Given the description of an element on the screen output the (x, y) to click on. 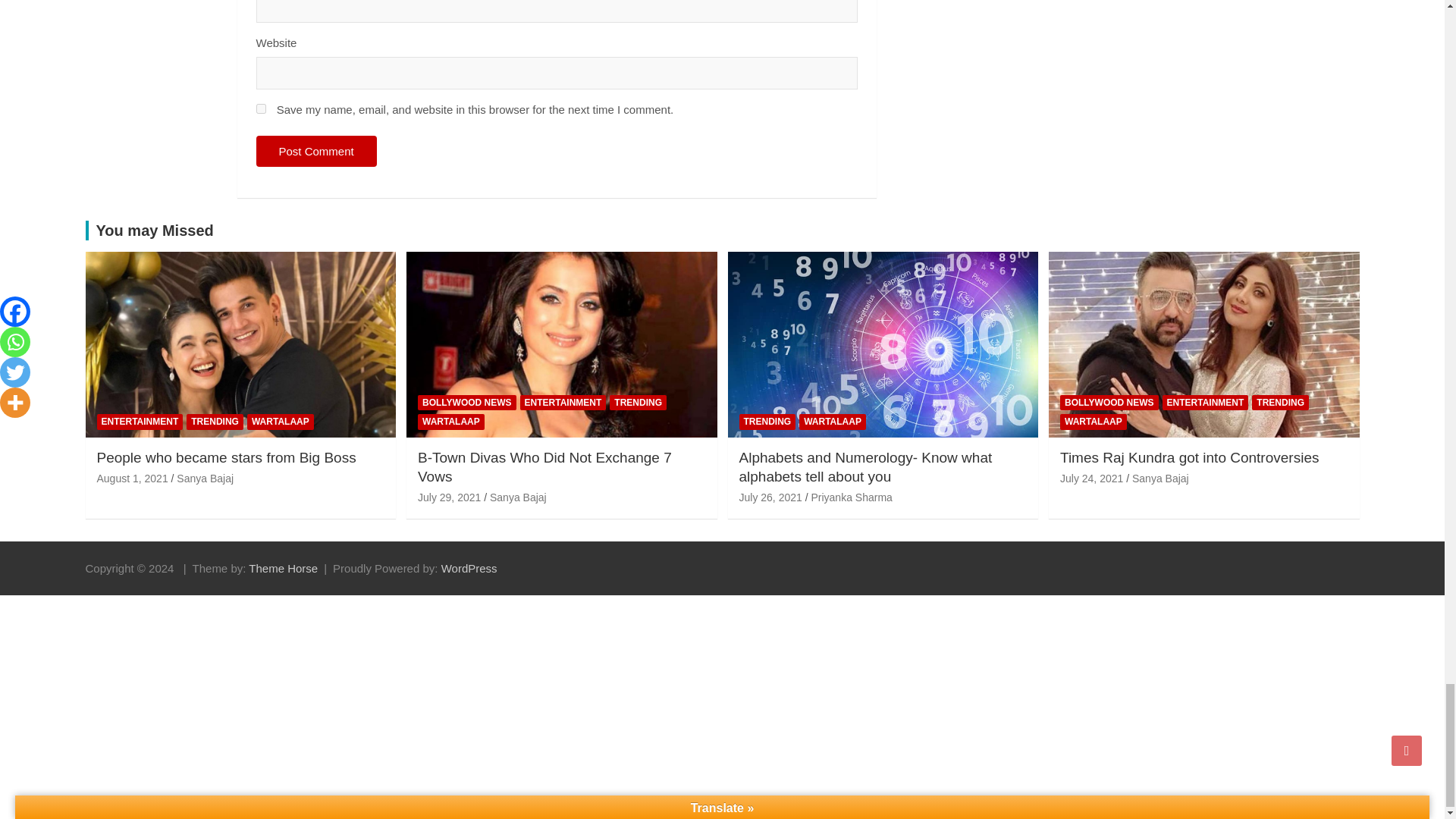
Theme Horse (282, 567)
People who became stars from Big Boss (132, 478)
Times Raj Kundra got into Controversies (1090, 478)
yes (261, 108)
Alphabets and Numerology- Know what alphabets tell about you (770, 497)
WordPress (469, 567)
B-Town Divas Who Did Not Exchange 7 Vows (448, 497)
Post Comment (316, 151)
